Given the description of an element on the screen output the (x, y) to click on. 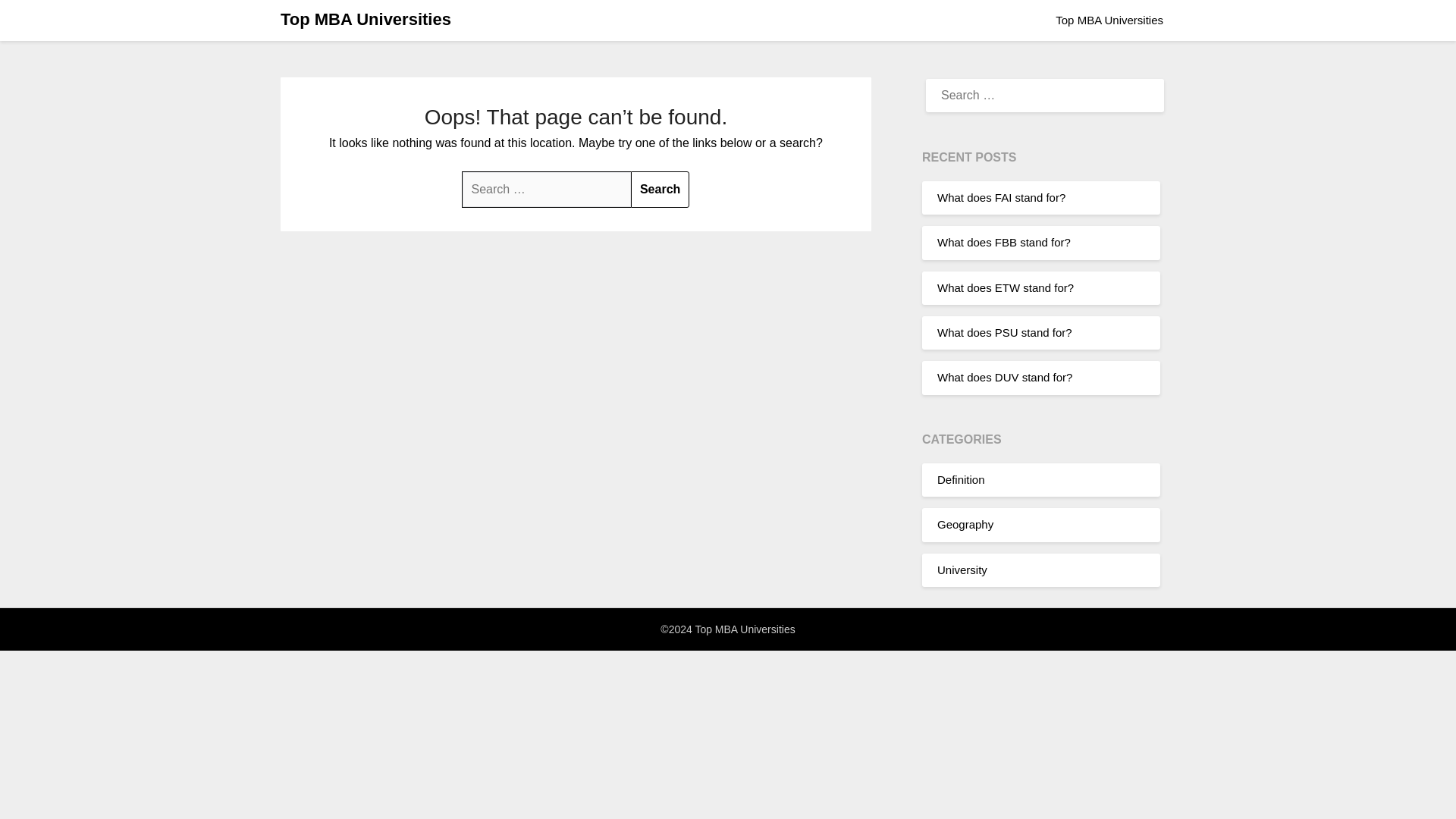
What does DUV stand for? (1004, 377)
What does FAI stand for? (1001, 196)
Geography (964, 523)
Search (659, 189)
Search (659, 189)
What does ETW stand for? (1005, 287)
What does FBB stand for? (1003, 241)
Top MBA Universities (366, 19)
University (962, 568)
Definition (961, 479)
